Given the description of an element on the screen output the (x, y) to click on. 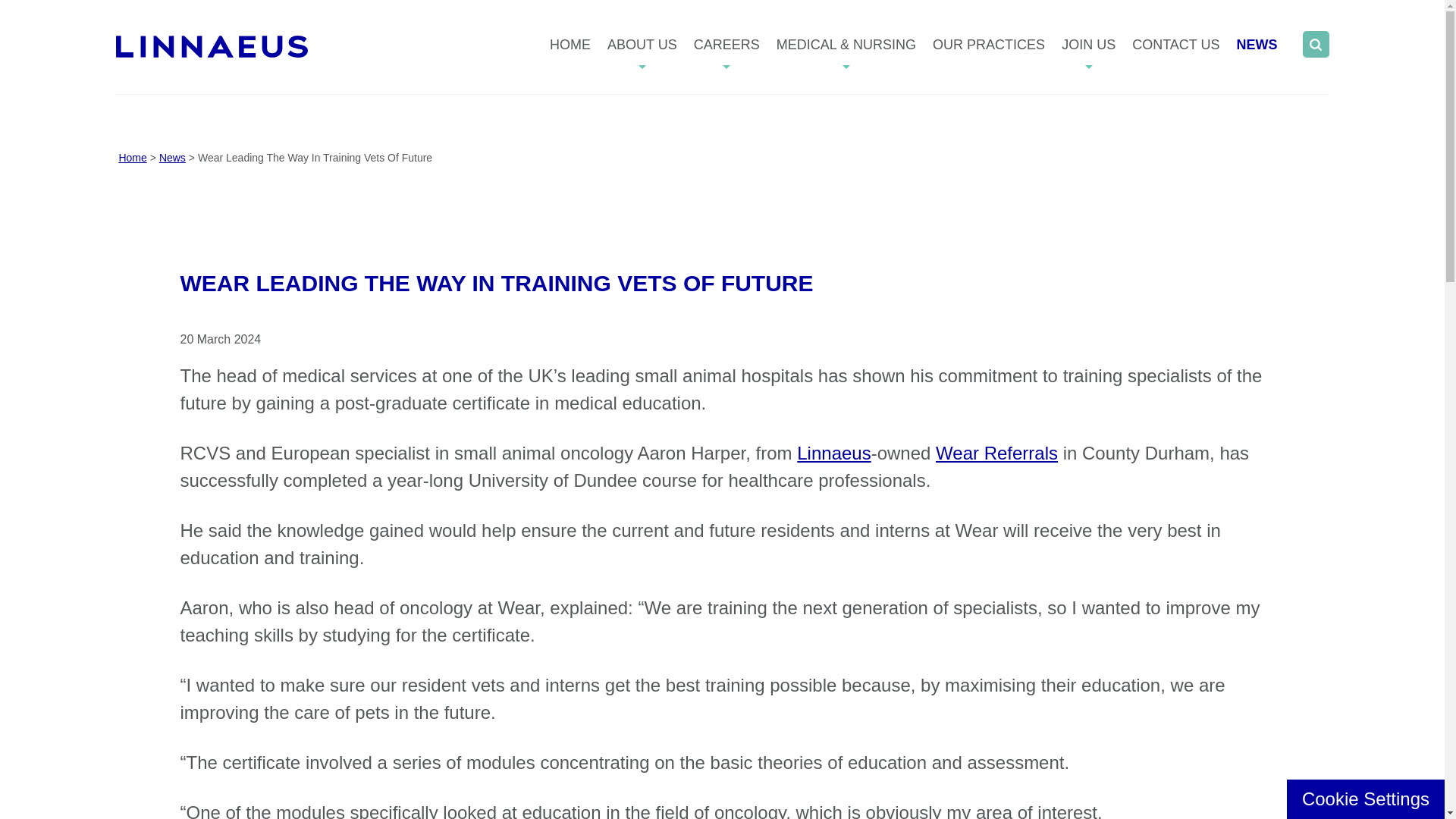
CAREERS (726, 42)
HOME (574, 42)
ABOUT US (641, 42)
